Given the description of an element on the screen output the (x, y) to click on. 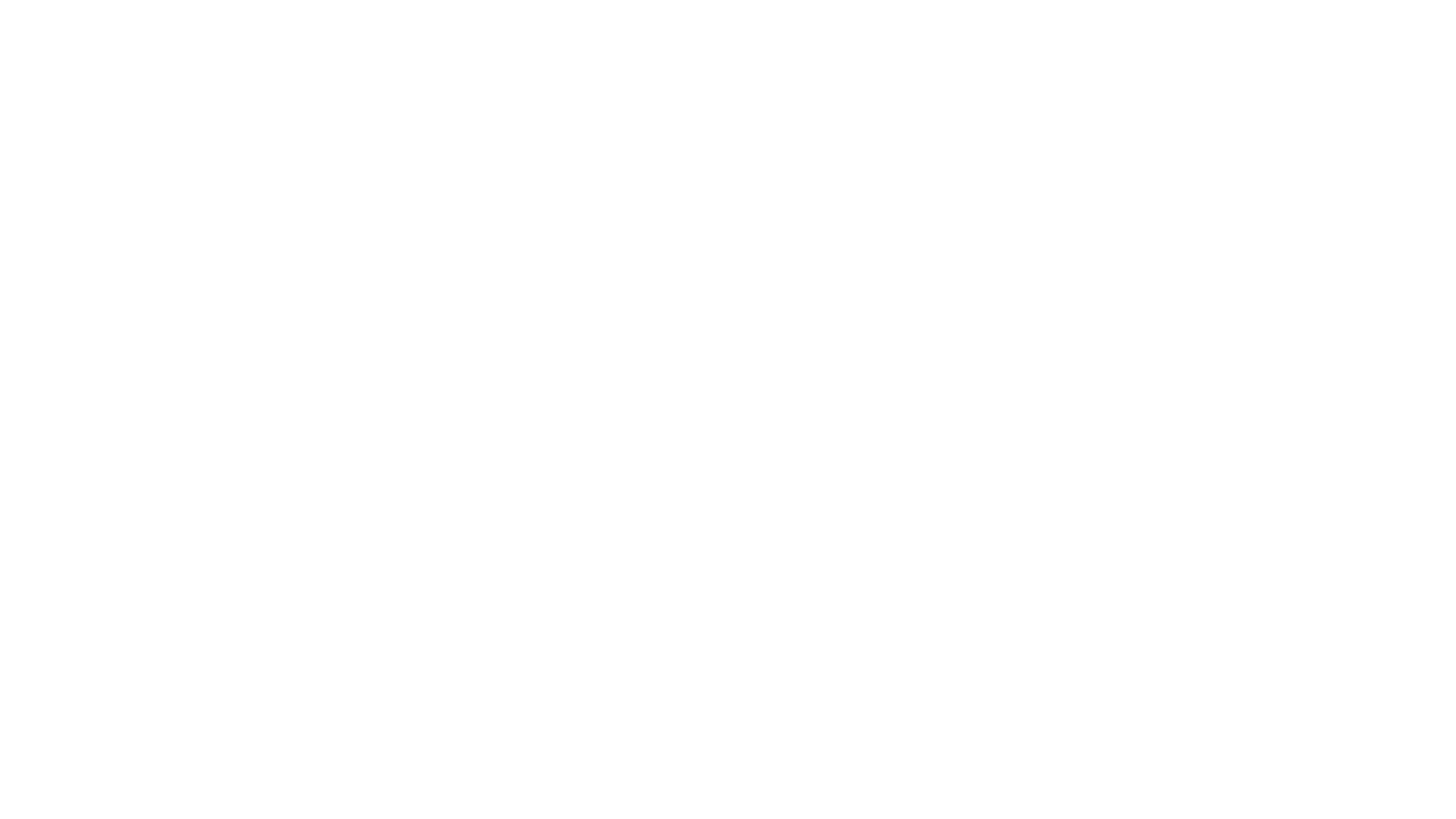
19. Dezember 2022 Element type: text (462, 648)
Startseite Element type: text (543, 23)
16. August 2023 Element type: text (1005, 617)
18. September 2023 Element type: text (1013, 538)
Magazin Element type: text (1090, 538)
Magazin Element type: text (1074, 617)
Redaktion Element type: text (357, 647)
Wissenswert Element type: text (1072, 23)
Magazin Element type: text (1052, 776)
MAGAZIN Element type: text (621, 165)
Reputation Service Element type: text (925, 23)
Personensuche Element type: text (658, 23)
9. Juni 2023 Element type: text (994, 776)
Magazin Element type: text (1074, 696)
Firmensuche Element type: text (783, 23)
HOME Element type: text (561, 165)
15. August 2023 Element type: text (1005, 696)
